Given the description of an element on the screen output the (x, y) to click on. 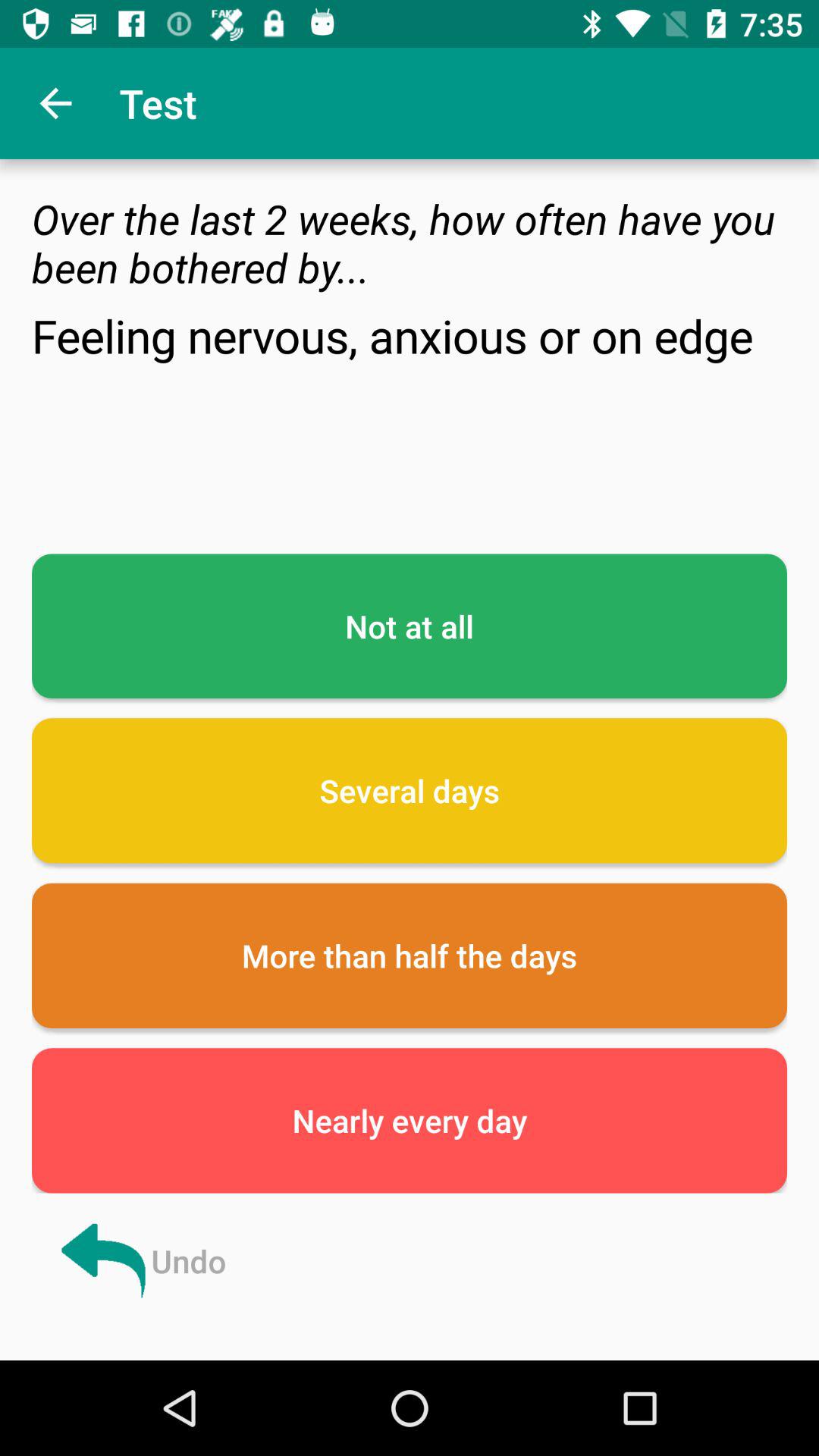
click icon below the not at all icon (409, 790)
